Given the description of an element on the screen output the (x, y) to click on. 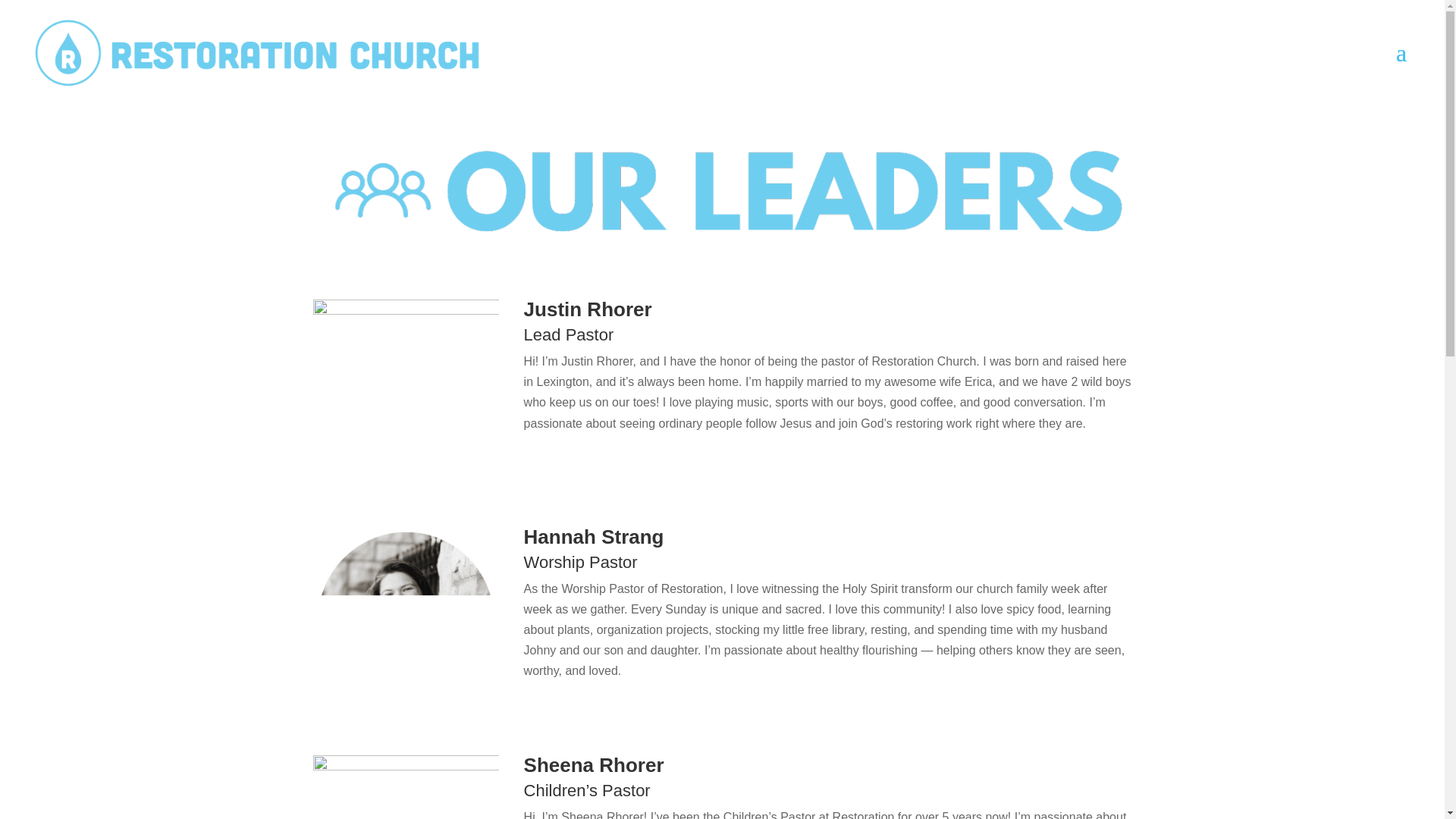
sheen (406, 787)
hannah (406, 620)
LEADERS (722, 190)
